Given the description of an element on the screen output the (x, y) to click on. 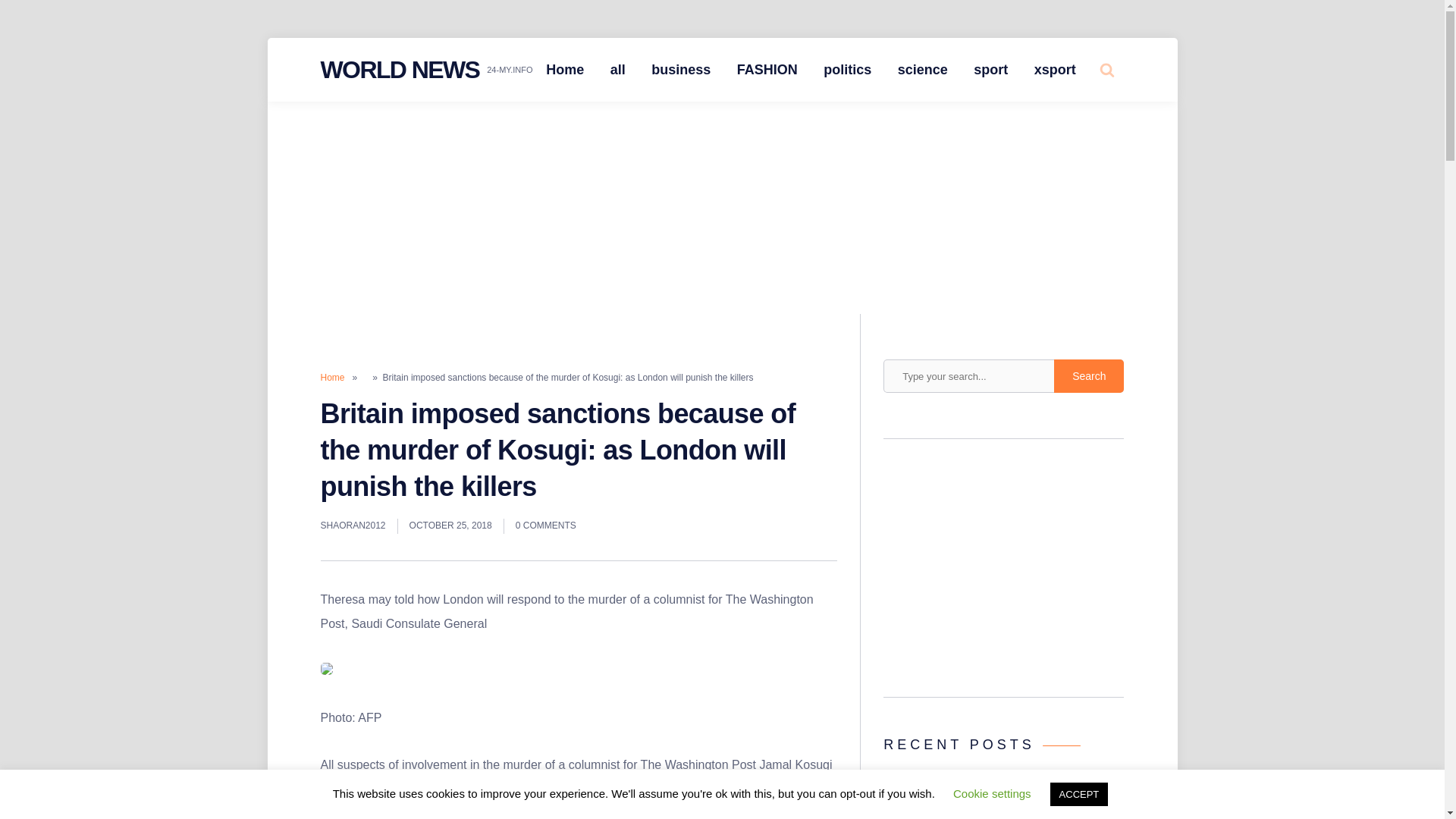
business (681, 69)
Search (1089, 376)
science (922, 69)
Search (1089, 376)
all (617, 69)
xsport (1055, 69)
FASHION (767, 69)
Home (331, 377)
sport (990, 69)
